Given the description of an element on the screen output the (x, y) to click on. 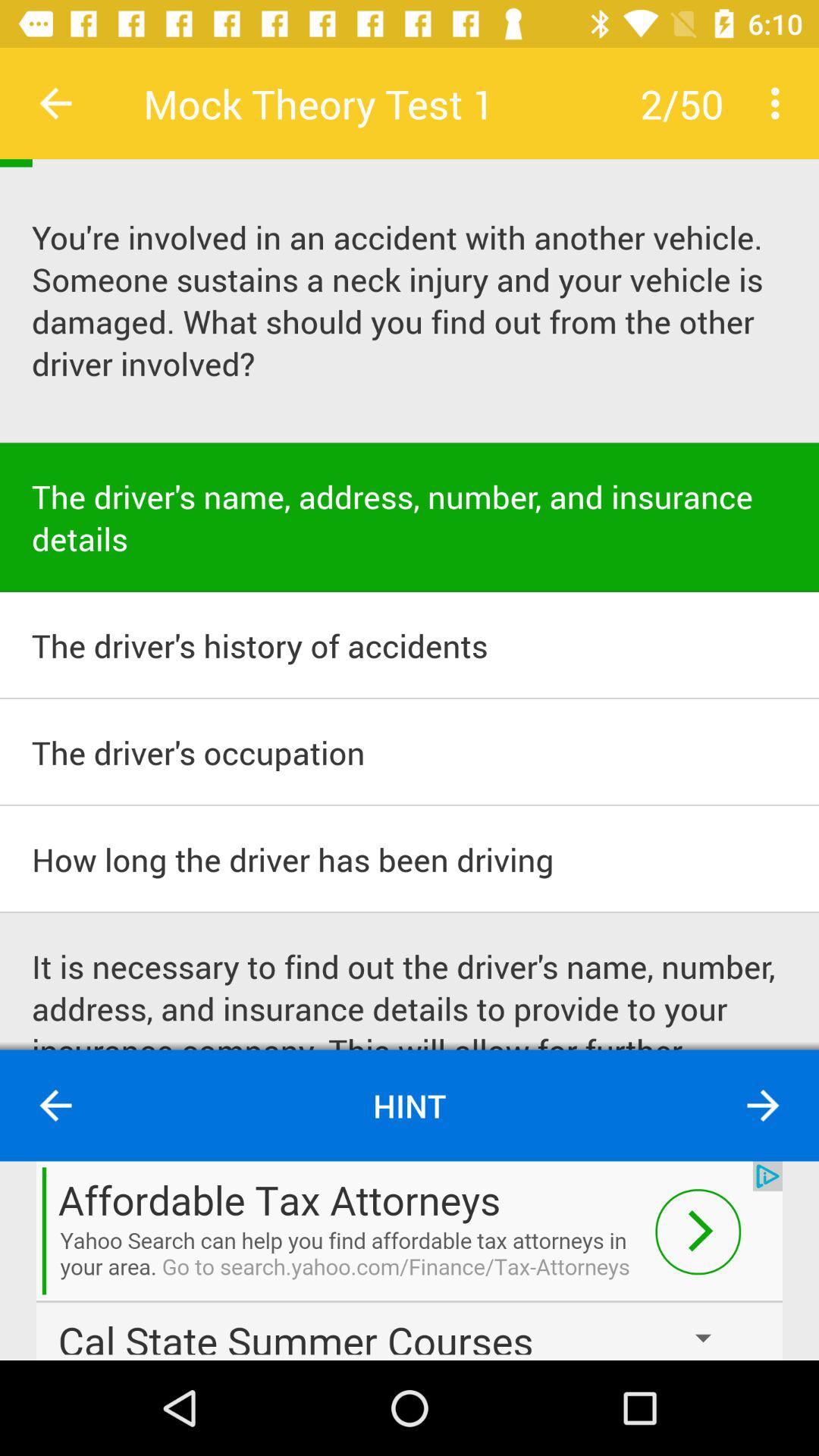
go next button (763, 1105)
